Given the description of an element on the screen output the (x, y) to click on. 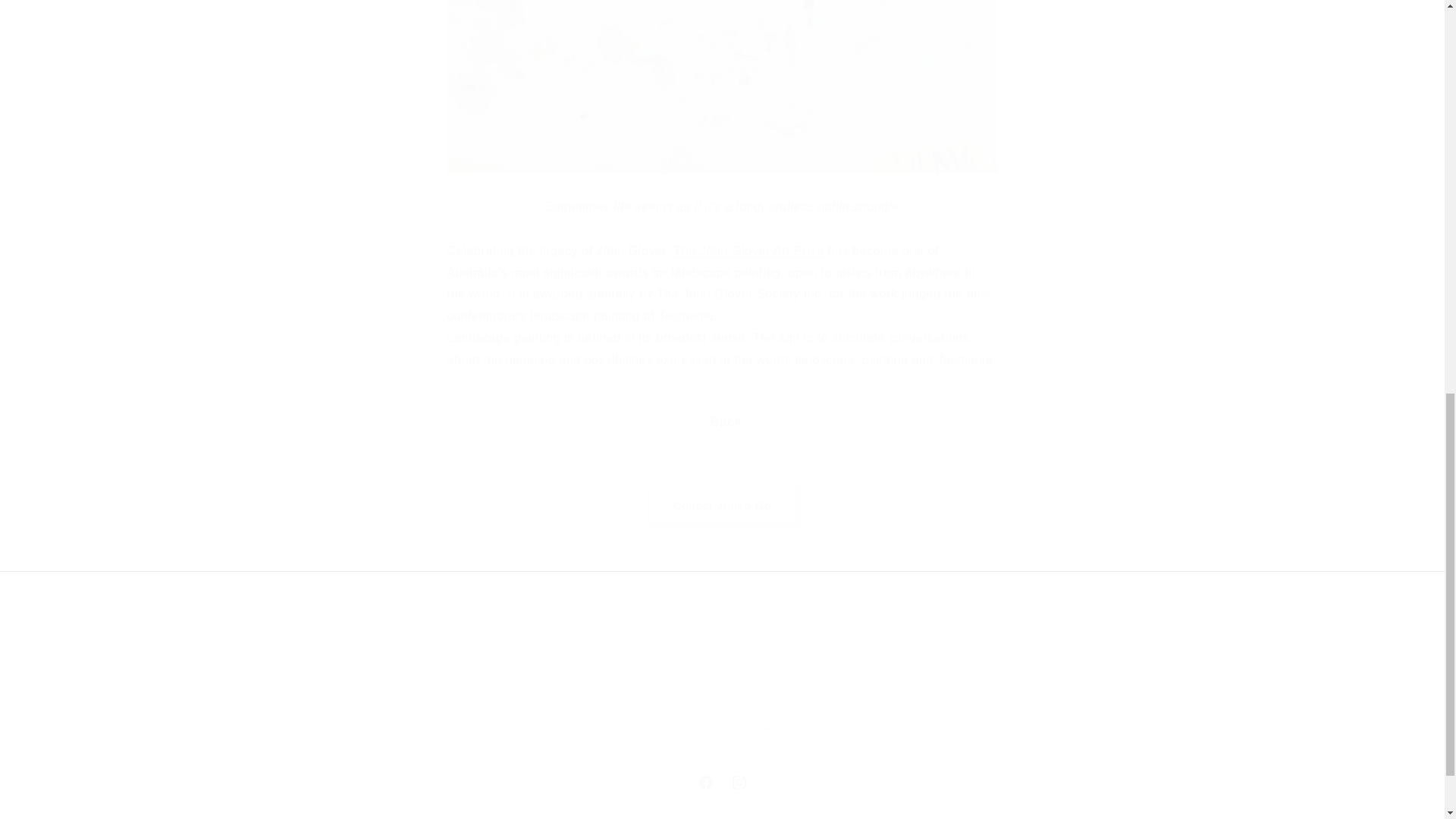
Collect Junko Go (721, 505)
The John Glover Art Prize (748, 250)
JOIN OUR MAILING LIST (721, 782)
Join the Gallerysmith mailing list (463, 655)
Collect Junko Go (463, 655)
Instagram (722, 505)
Facebook (738, 782)
